Given the description of an element on the screen output the (x, y) to click on. 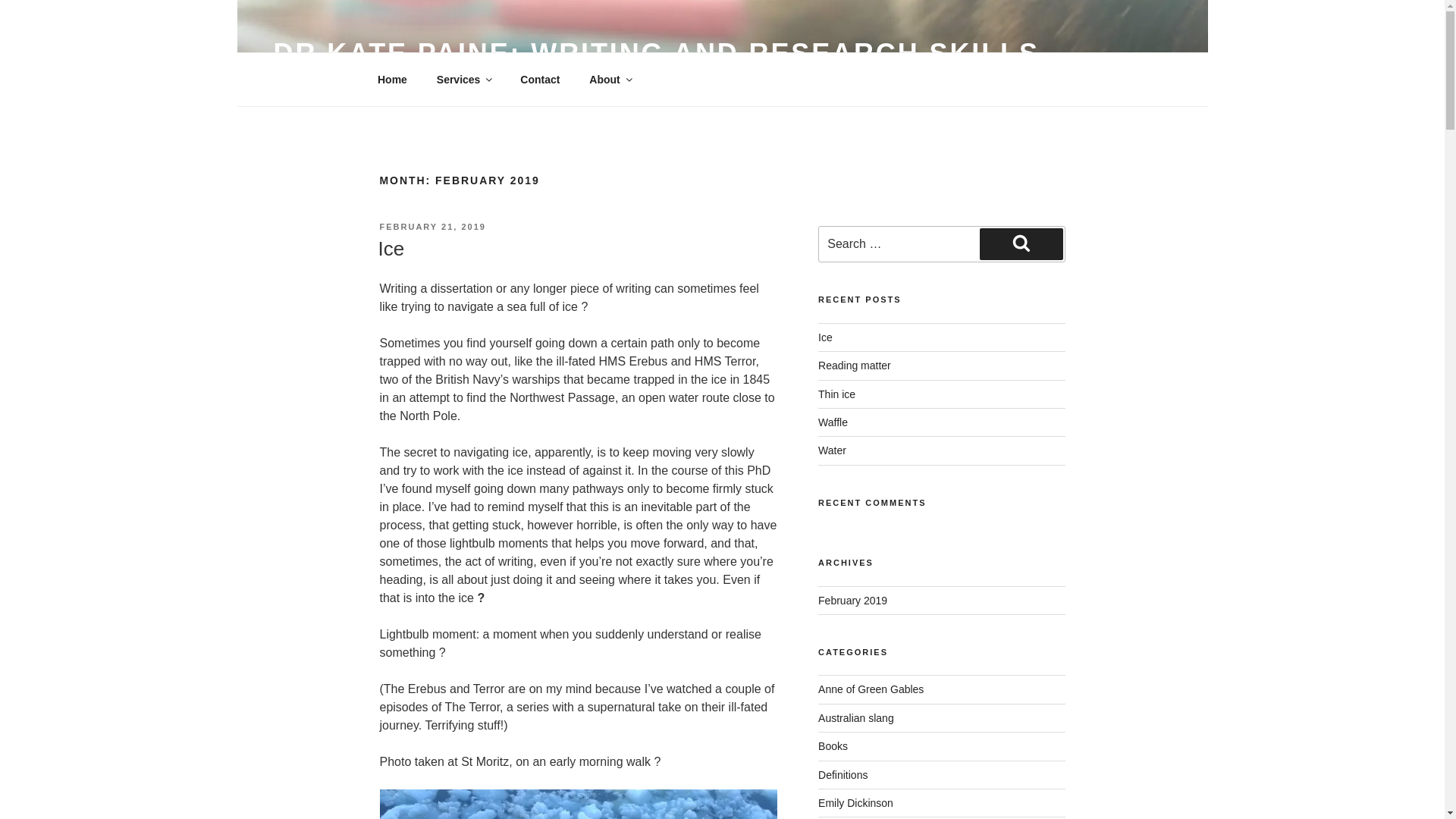
Thin ice (837, 394)
Australian slang (855, 717)
February 2019 (852, 600)
Water (831, 450)
Anne of Green Gables (870, 689)
Services (463, 78)
Definitions (842, 775)
Ice (825, 337)
Emily Dickinson (855, 802)
Search (1020, 244)
